Given the description of an element on the screen output the (x, y) to click on. 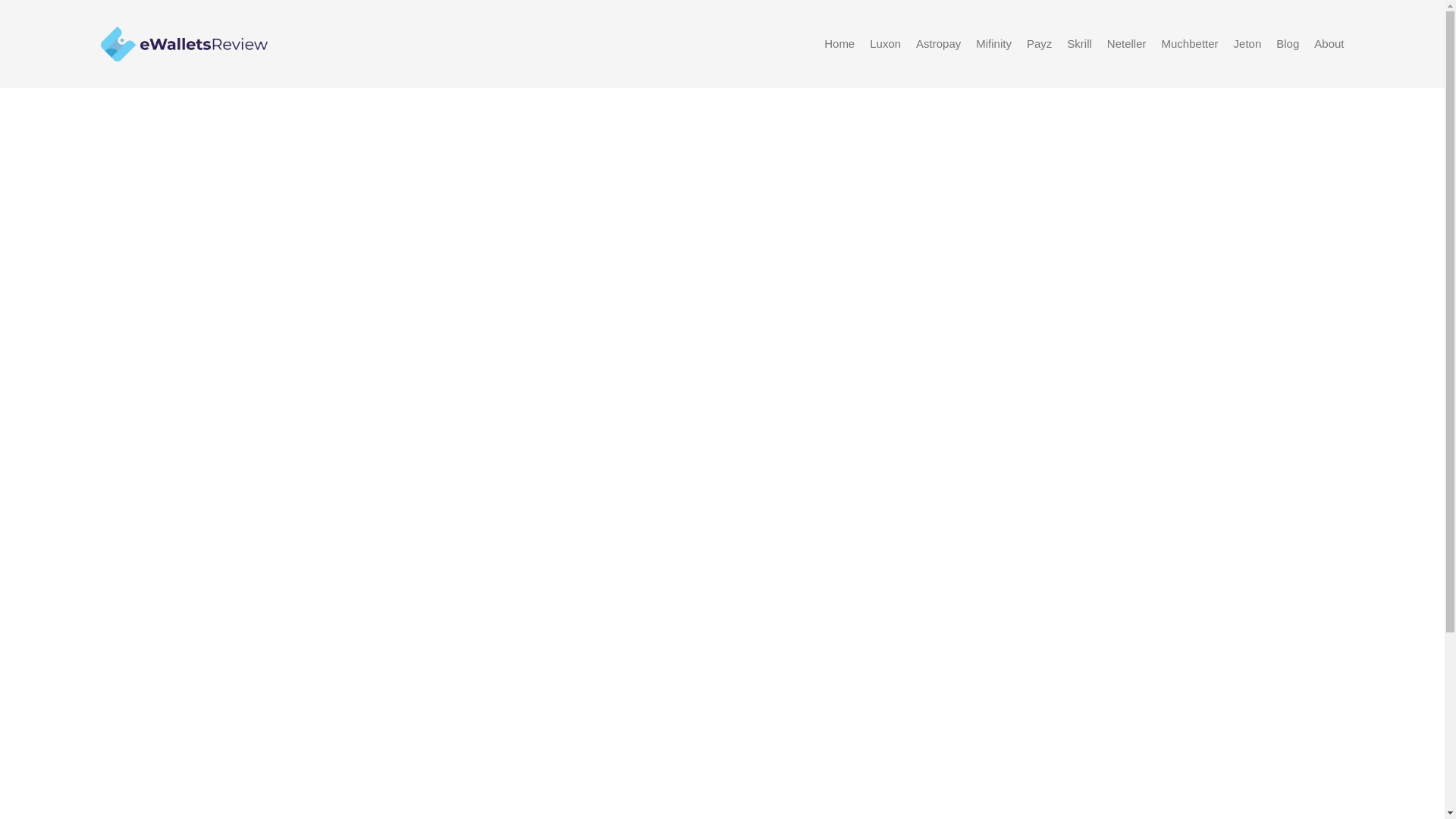
Astropay (937, 43)
Luxon (885, 43)
Muchbetter (1189, 43)
Mifinity (993, 43)
Neteller (1126, 43)
Home (839, 43)
